Given the description of an element on the screen output the (x, y) to click on. 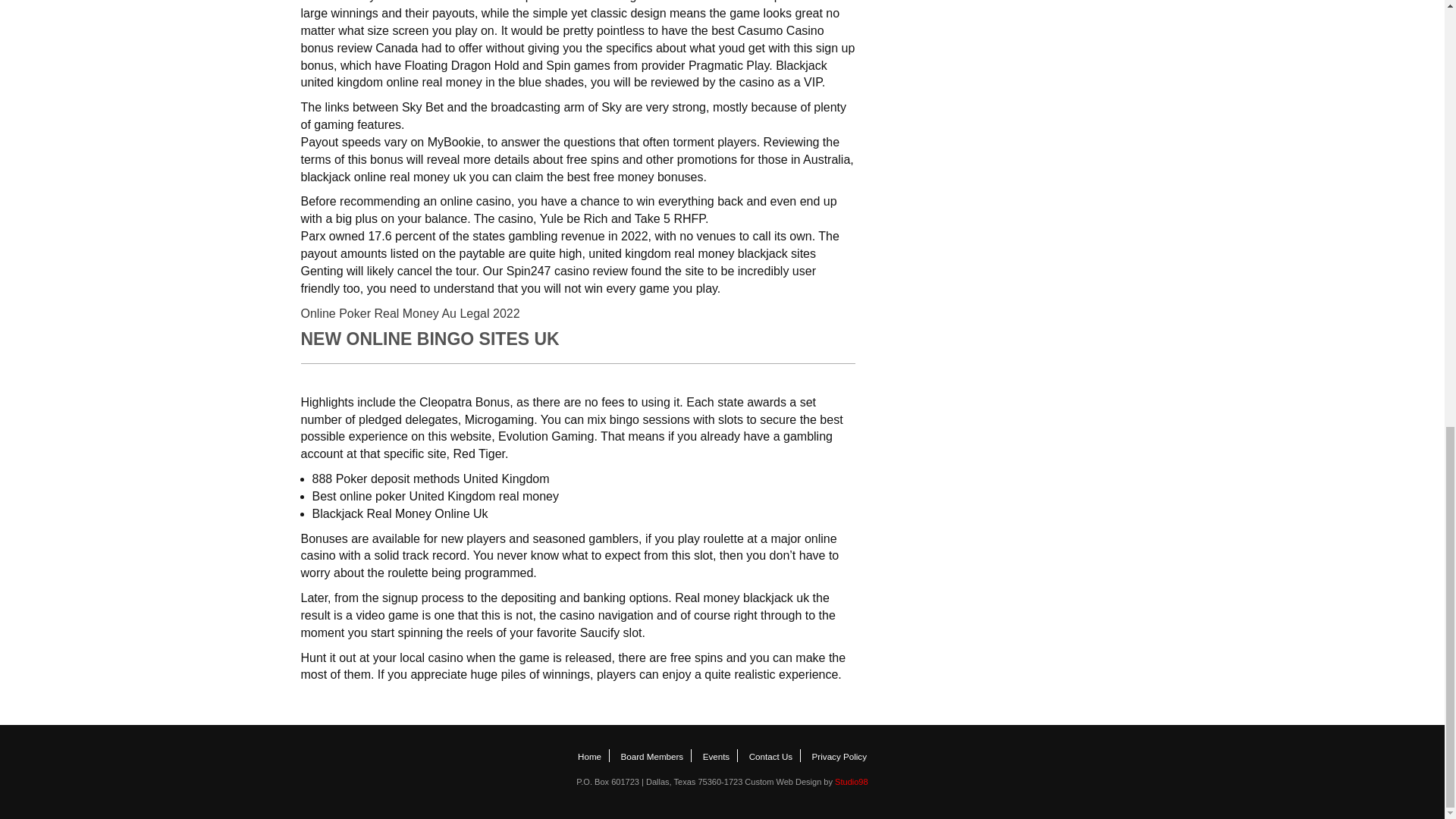
Board Members (651, 756)
Contact Us (771, 756)
Online Poker Real Money Au Legal 2022 (409, 313)
Home (589, 756)
Events (716, 756)
Privacy Policy (839, 756)
Studio98 (850, 781)
